Given the description of an element on the screen output the (x, y) to click on. 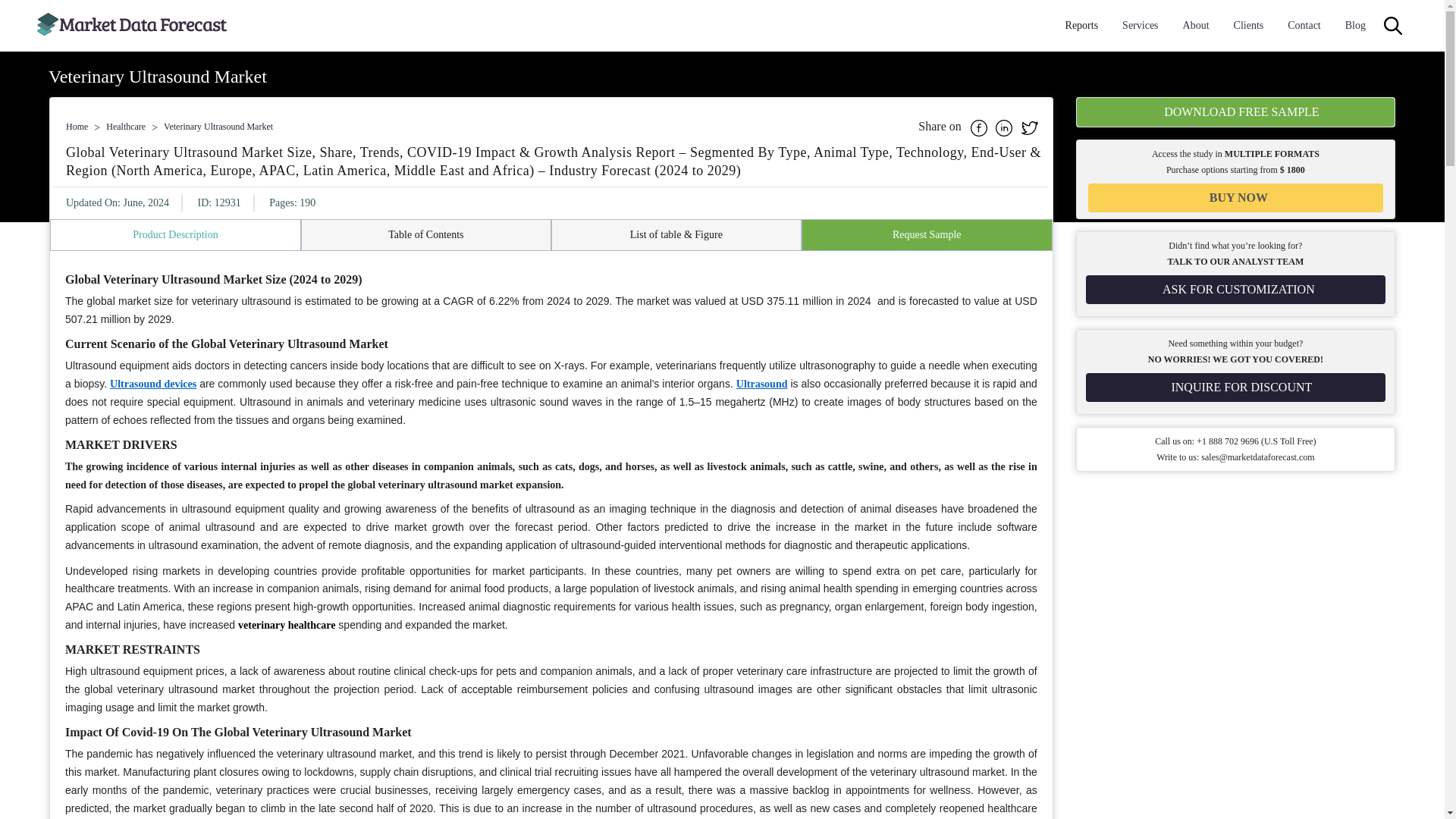
Blog (1355, 25)
Ultrasound (761, 383)
About (1195, 25)
Table of Contents (425, 235)
Healthcare (125, 126)
Veterinary Ultrasound Market (218, 126)
Product Description (174, 235)
Request Sample (926, 235)
Ultrasound devices (153, 383)
Services (1139, 25)
Reports (1082, 25)
Market Data Forecast logo (132, 25)
Clients (1248, 25)
Linkedin (1004, 126)
Contact (1303, 25)
